Given the description of an element on the screen output the (x, y) to click on. 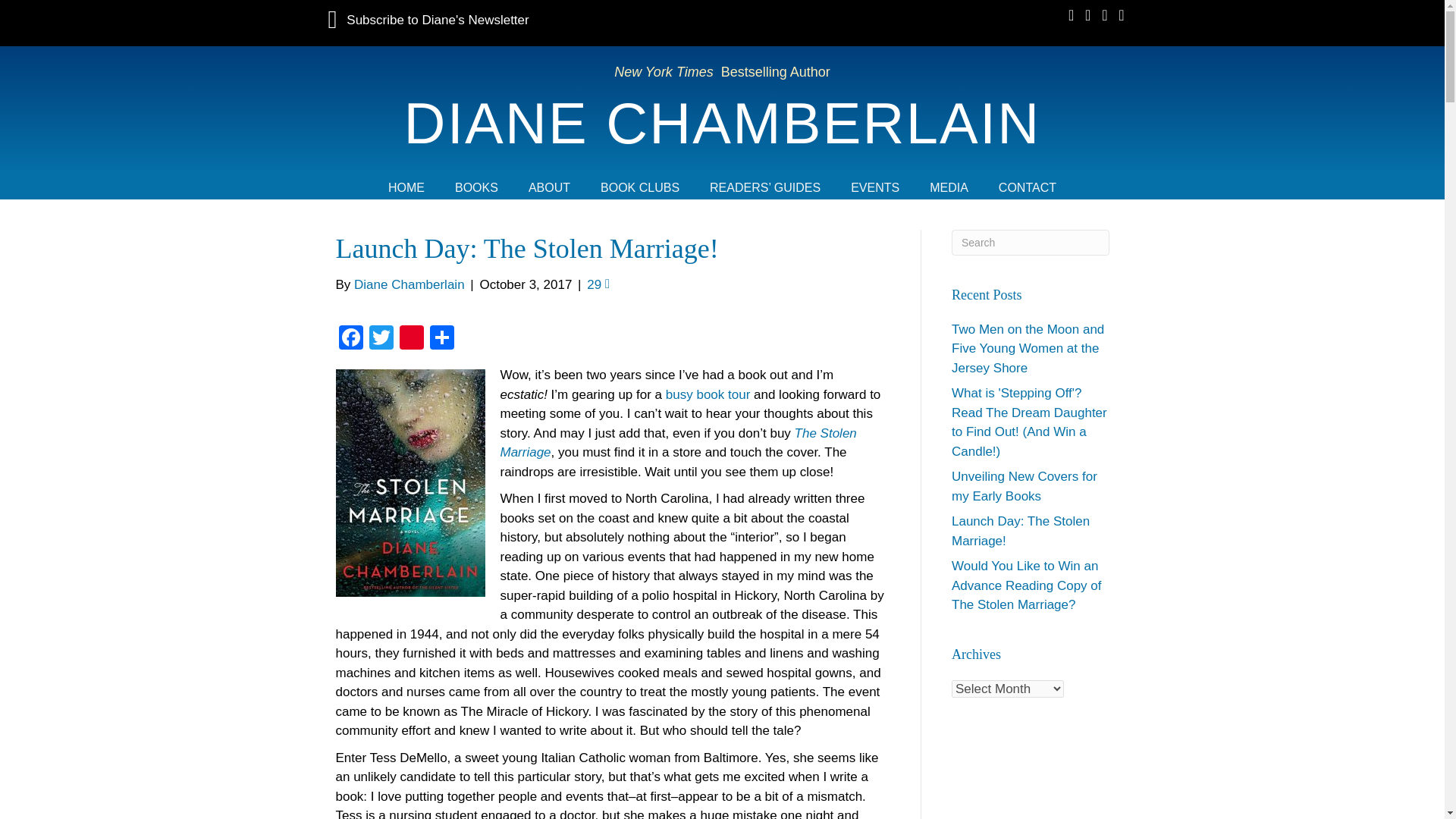
EVENTS (874, 187)
Pinterest (411, 338)
Facebook (349, 338)
Diane Chamberlain (408, 284)
Share (441, 338)
BOOKS (476, 187)
Diane Chamberlain (722, 122)
ABOUT (549, 187)
BOOK CLUBS (639, 187)
Type and press Enter to search. (1030, 241)
Pinterest (411, 338)
29 (598, 284)
MEDIA (949, 187)
DIANE CHAMBERLAIN (722, 122)
Facebook (349, 338)
